Given the description of an element on the screen output the (x, y) to click on. 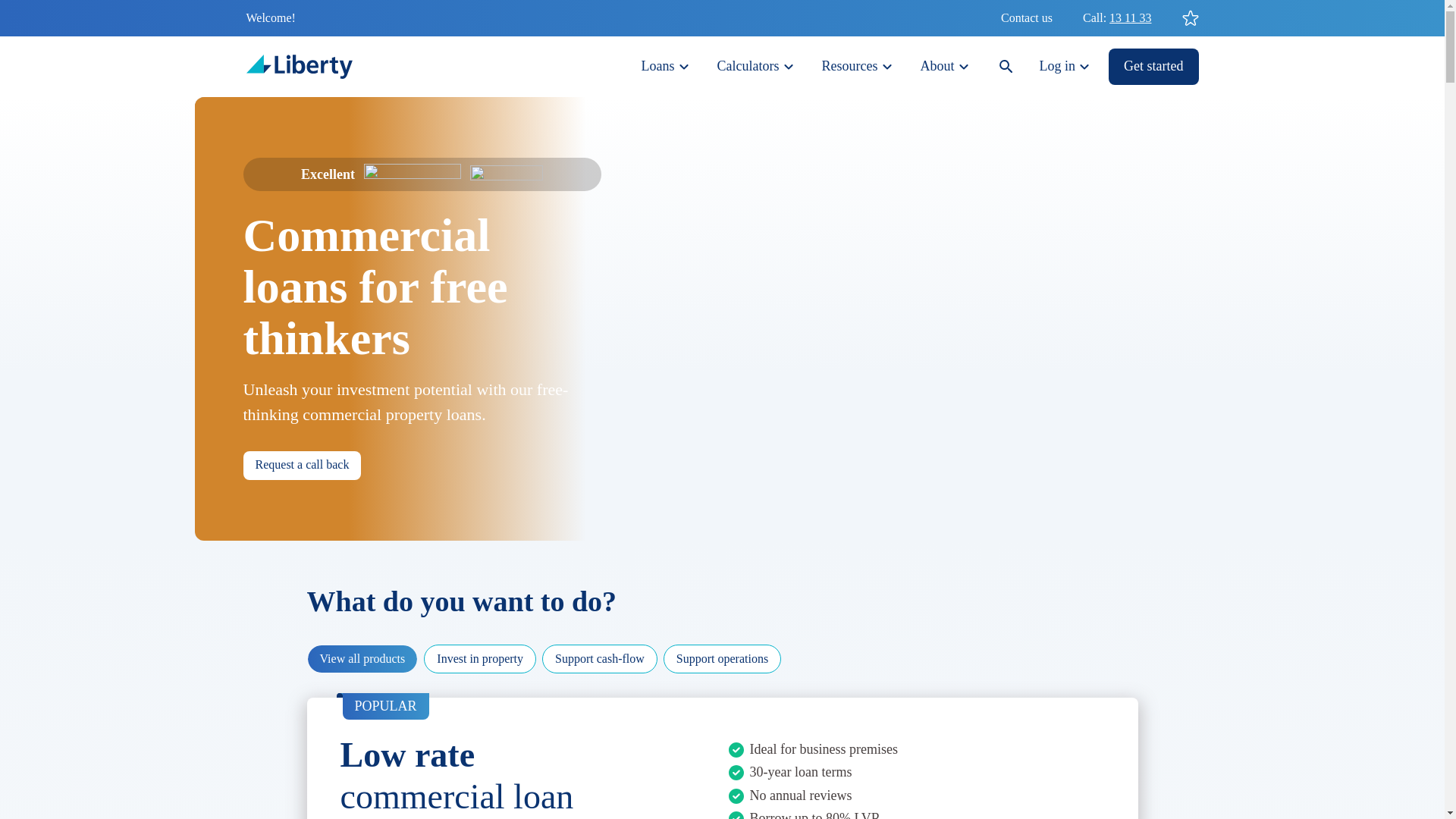
Invest in property (479, 658)
13 11 33 (1130, 17)
Get started (1153, 66)
Request a call back (302, 465)
Support cash-flow (599, 658)
Support operations (721, 658)
Contact us (1026, 17)
View all products (361, 658)
